Given the description of an element on the screen output the (x, y) to click on. 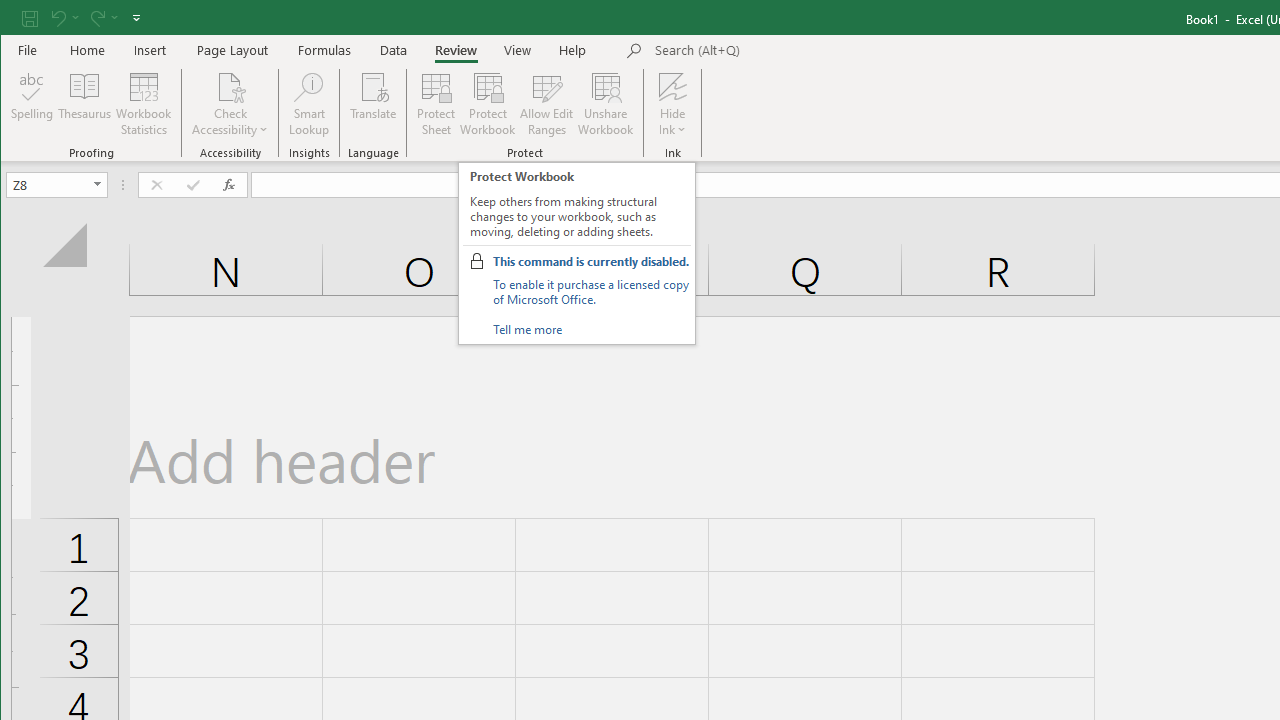
Translate (373, 104)
Data (394, 50)
Microsoft search (794, 51)
Formulas (325, 50)
Smart Lookup (308, 104)
File Tab (28, 49)
Help (573, 50)
Review (456, 50)
